Given the description of an element on the screen output the (x, y) to click on. 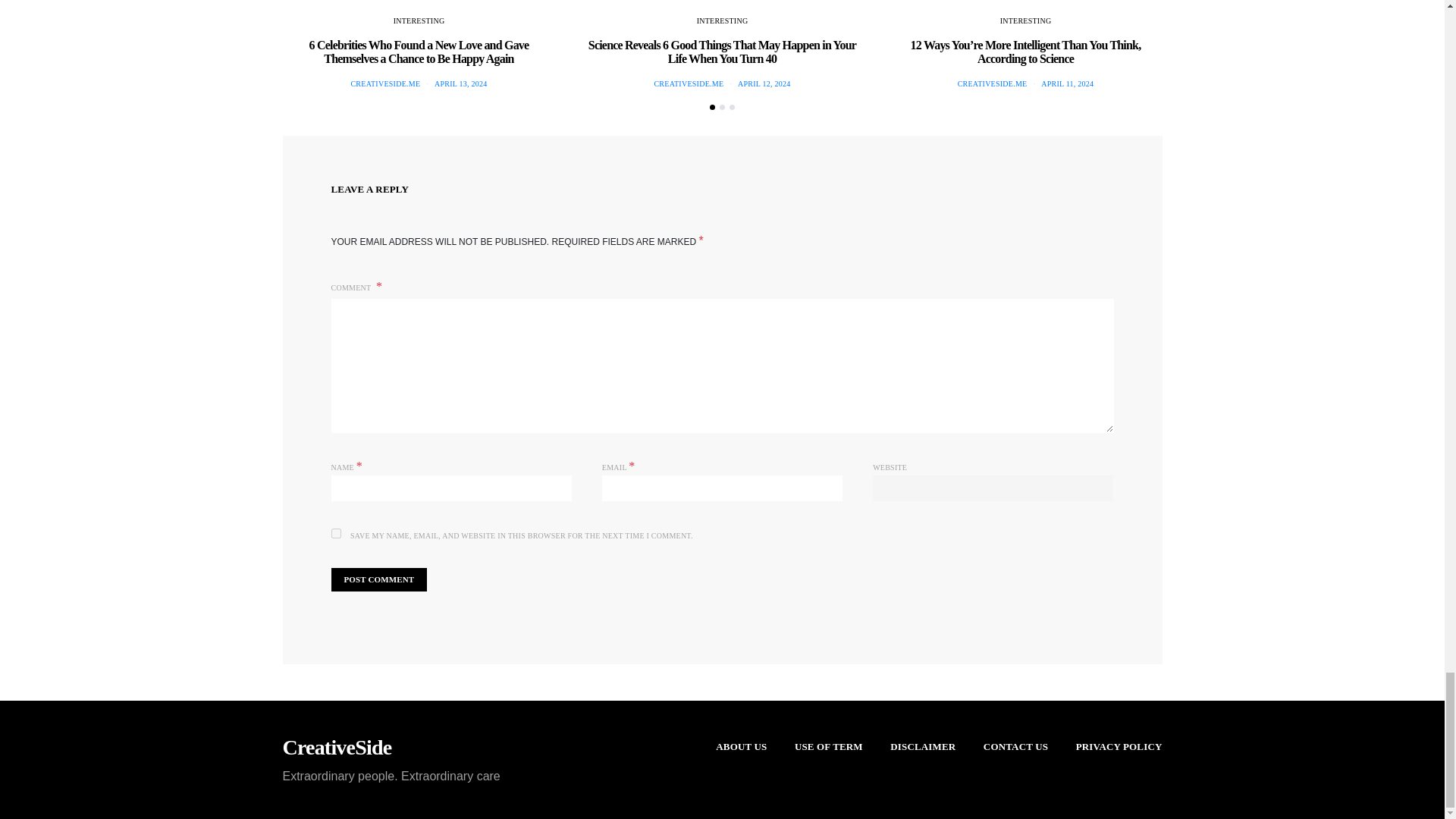
View all posts by creativeside.me (688, 83)
View all posts by creativeside.me (385, 83)
Post Comment (378, 579)
View all posts by creativeside.me (992, 83)
yes (335, 533)
